Given the description of an element on the screen output the (x, y) to click on. 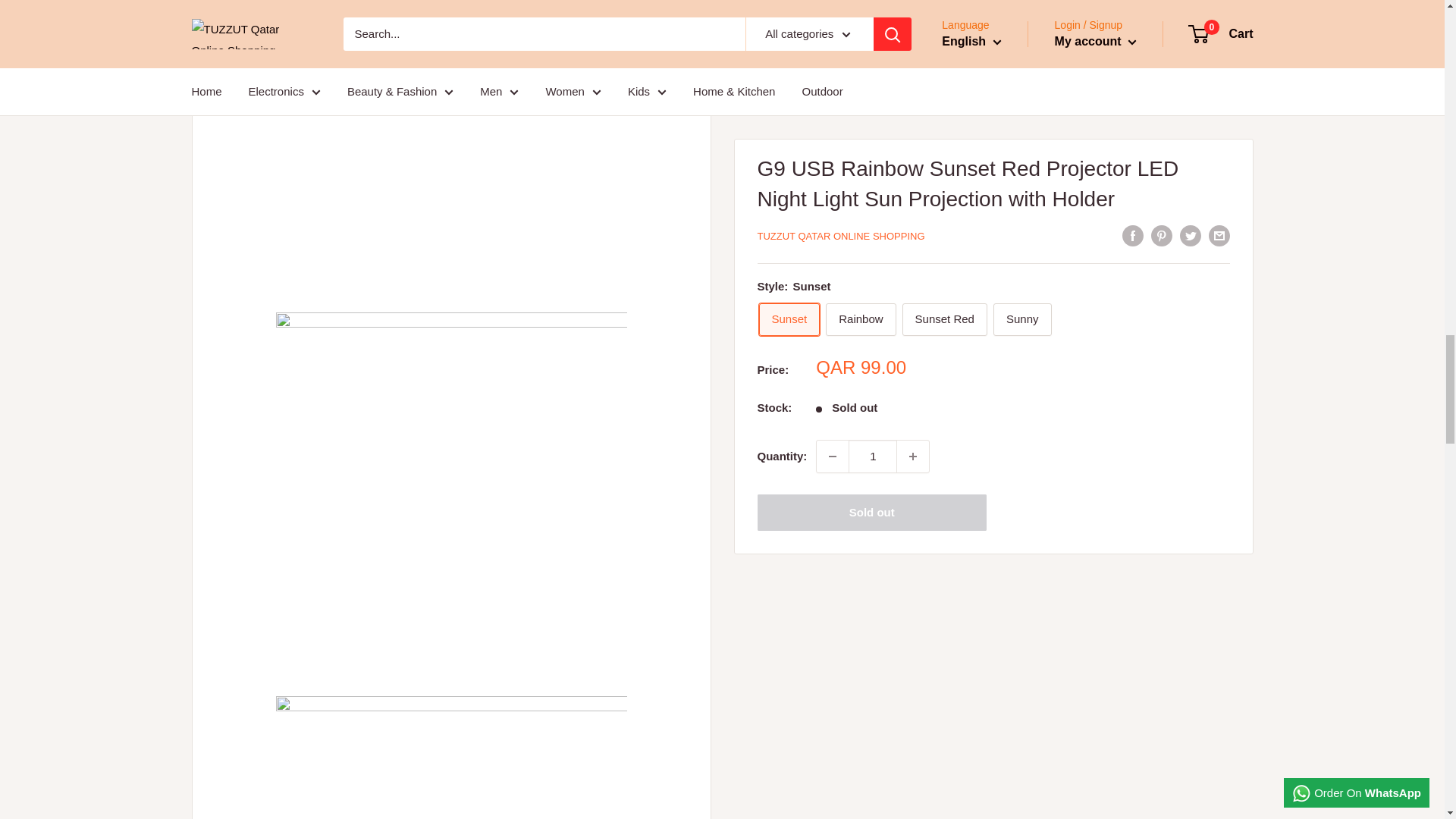
G9 1 (451, 757)
